Given the description of an element on the screen output the (x, y) to click on. 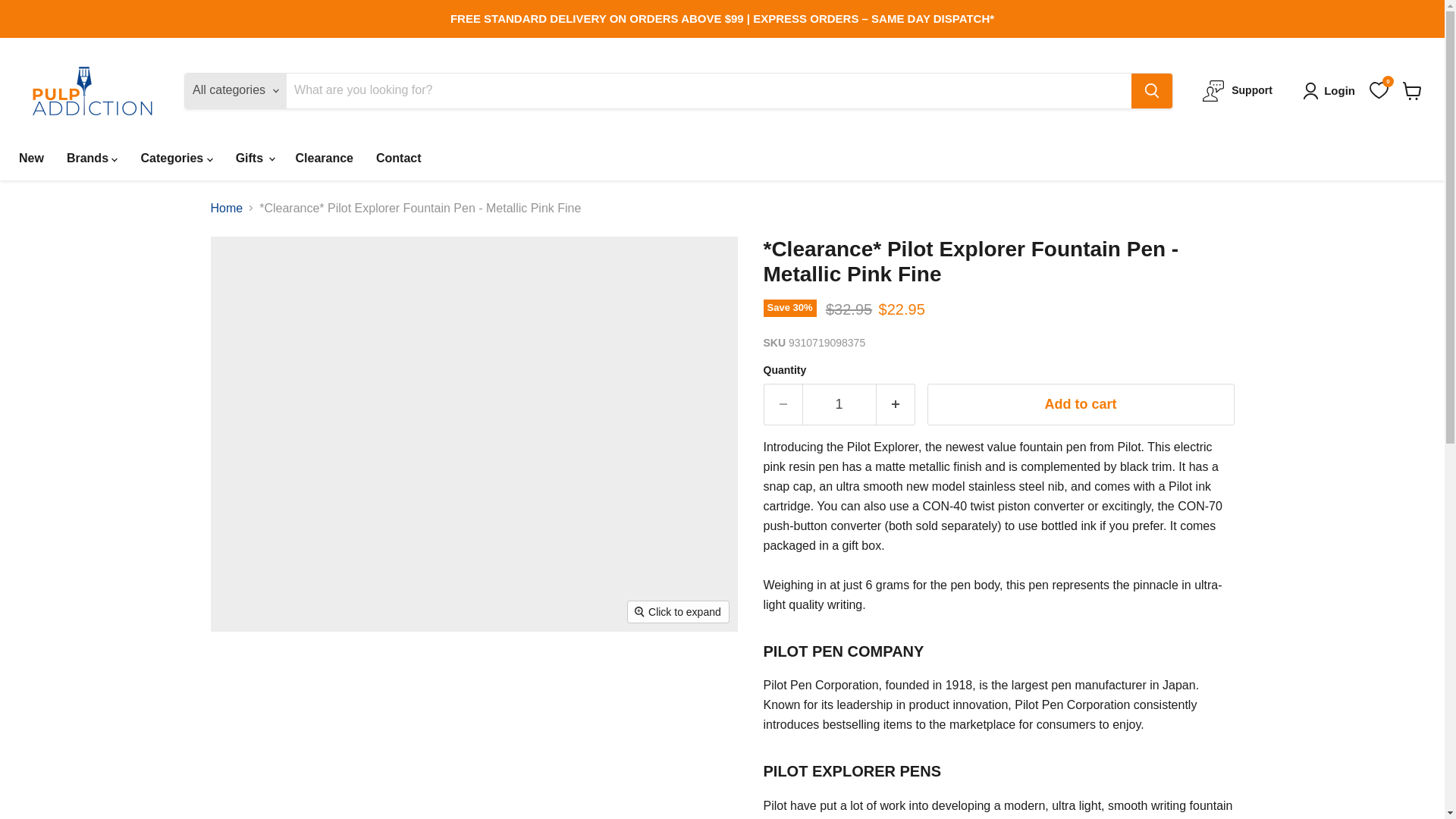
View cart (1411, 90)
Login (1332, 90)
New (31, 158)
Support (1237, 90)
0 (1378, 89)
1 (839, 404)
